Given the description of an element on the screen output the (x, y) to click on. 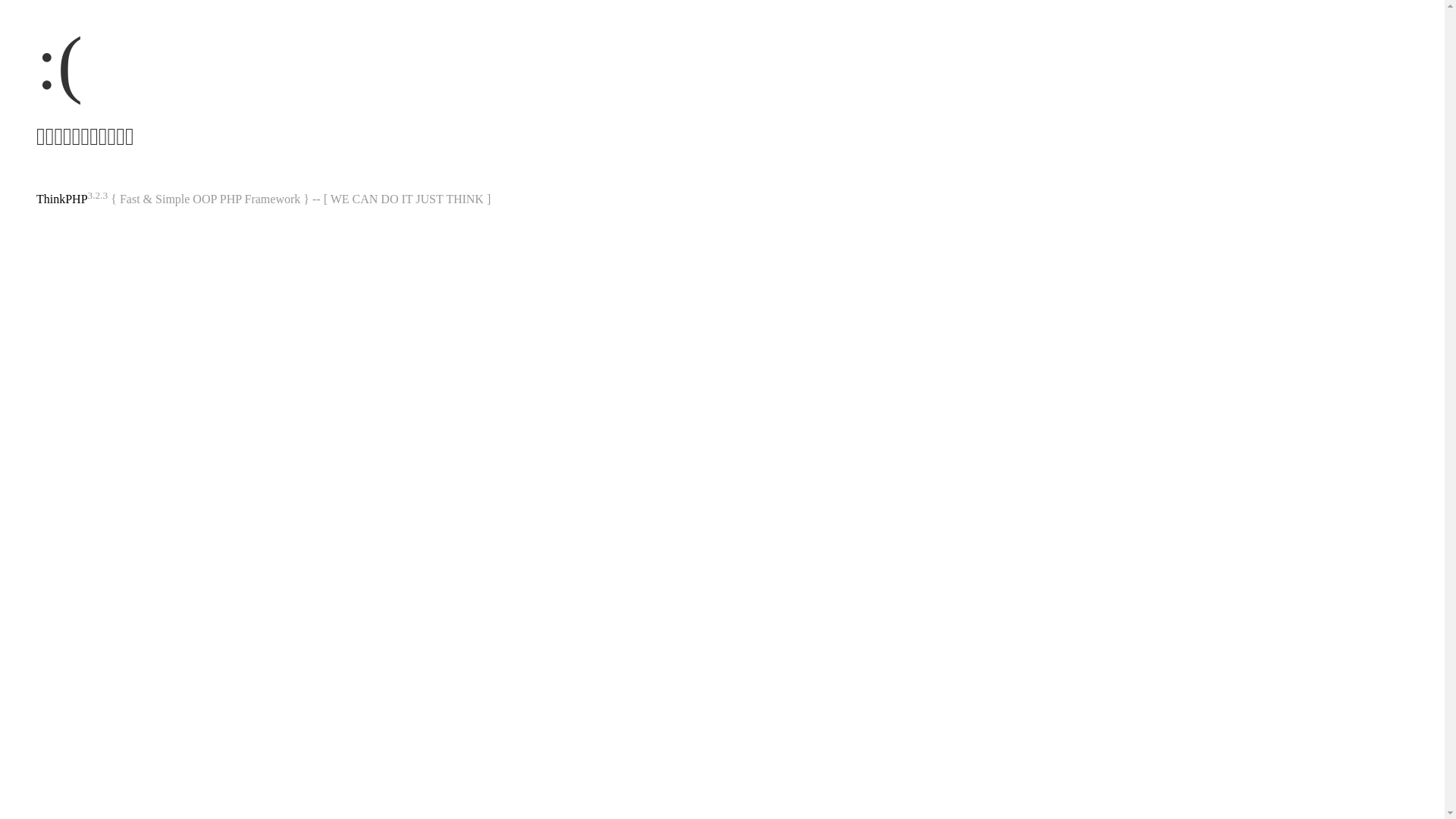
ThinkPHP Element type: text (61, 198)
